Given the description of an element on the screen output the (x, y) to click on. 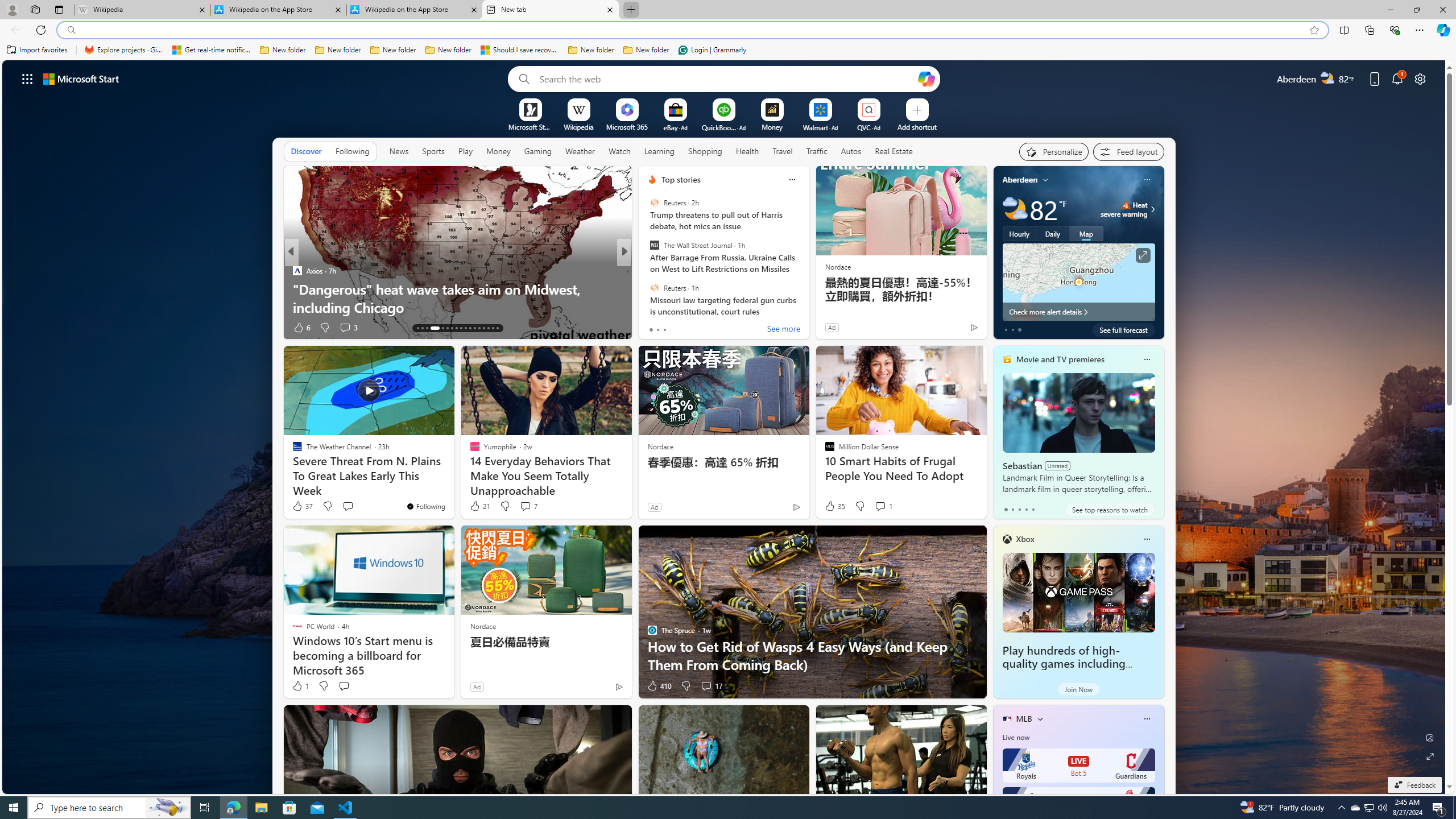
Partly cloudy (1014, 208)
AutomationID: tab-21 (460, 328)
tab-2 (1019, 509)
View comments 6 Comment (703, 327)
Join Now (1078, 689)
View comments 339 Comment (703, 327)
Auto Travel World (647, 270)
